Given the description of an element on the screen output the (x, y) to click on. 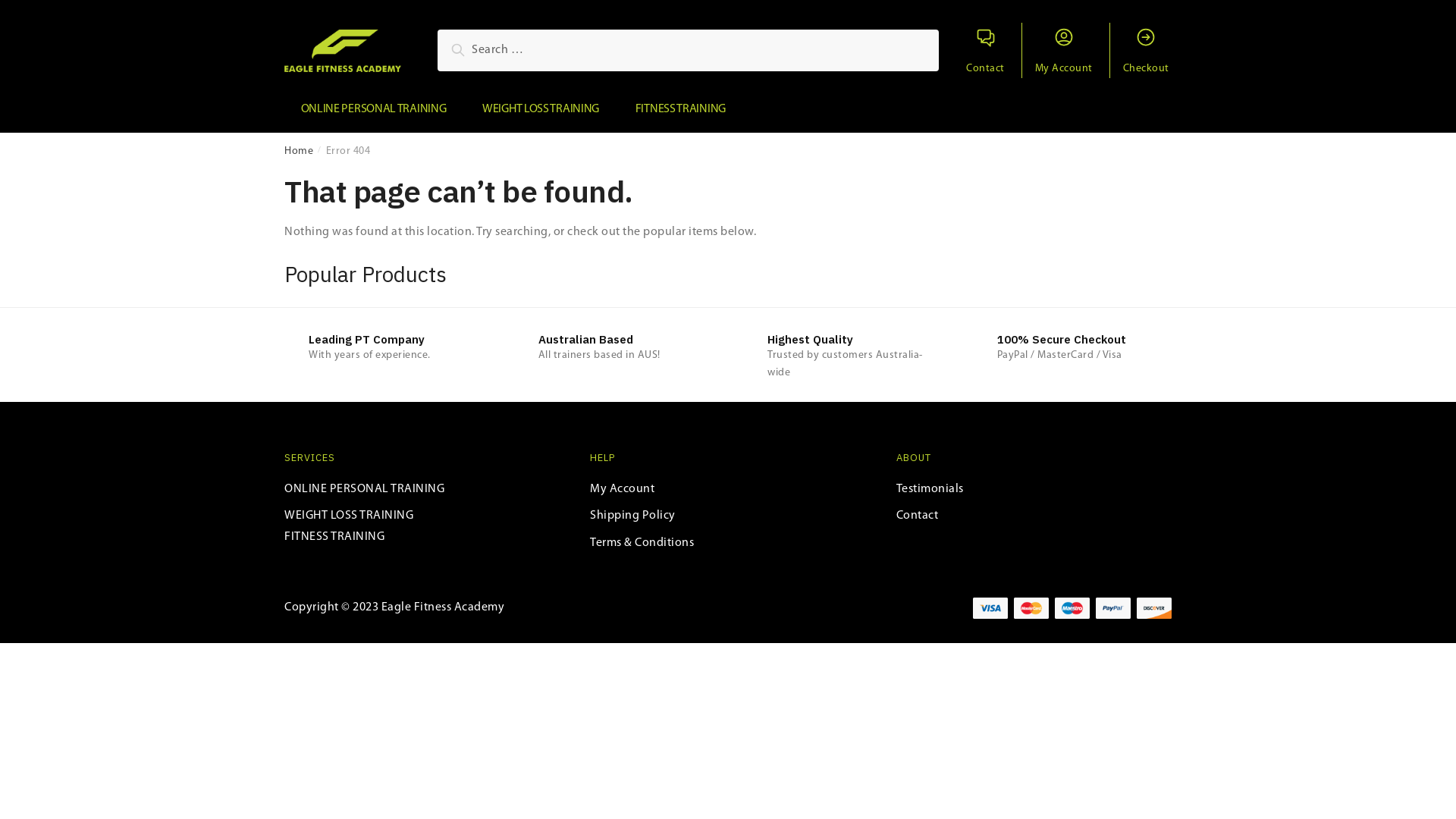
FITNESS TRAINING Element type: text (679, 109)
Contact Element type: text (917, 515)
WEIGHT LOSS TRAINING Element type: text (540, 109)
Testimonials Element type: text (929, 489)
Checkout Element type: text (1145, 50)
My Account Element type: text (621, 489)
Terms & Conditions Element type: text (641, 543)
Shipping Policy Element type: text (632, 515)
Home Element type: text (298, 150)
My Account Element type: text (1063, 50)
ONLINE PERSONAL TRAINING Element type: text (373, 109)
FITNESS TRAINING Element type: text (334, 537)
Search Element type: text (472, 51)
Contact Element type: text (985, 50)
ONLINE PERSONAL TRAINING Element type: text (364, 489)
WEIGHT LOSS TRAINING Element type: text (348, 515)
